Given the description of an element on the screen output the (x, y) to click on. 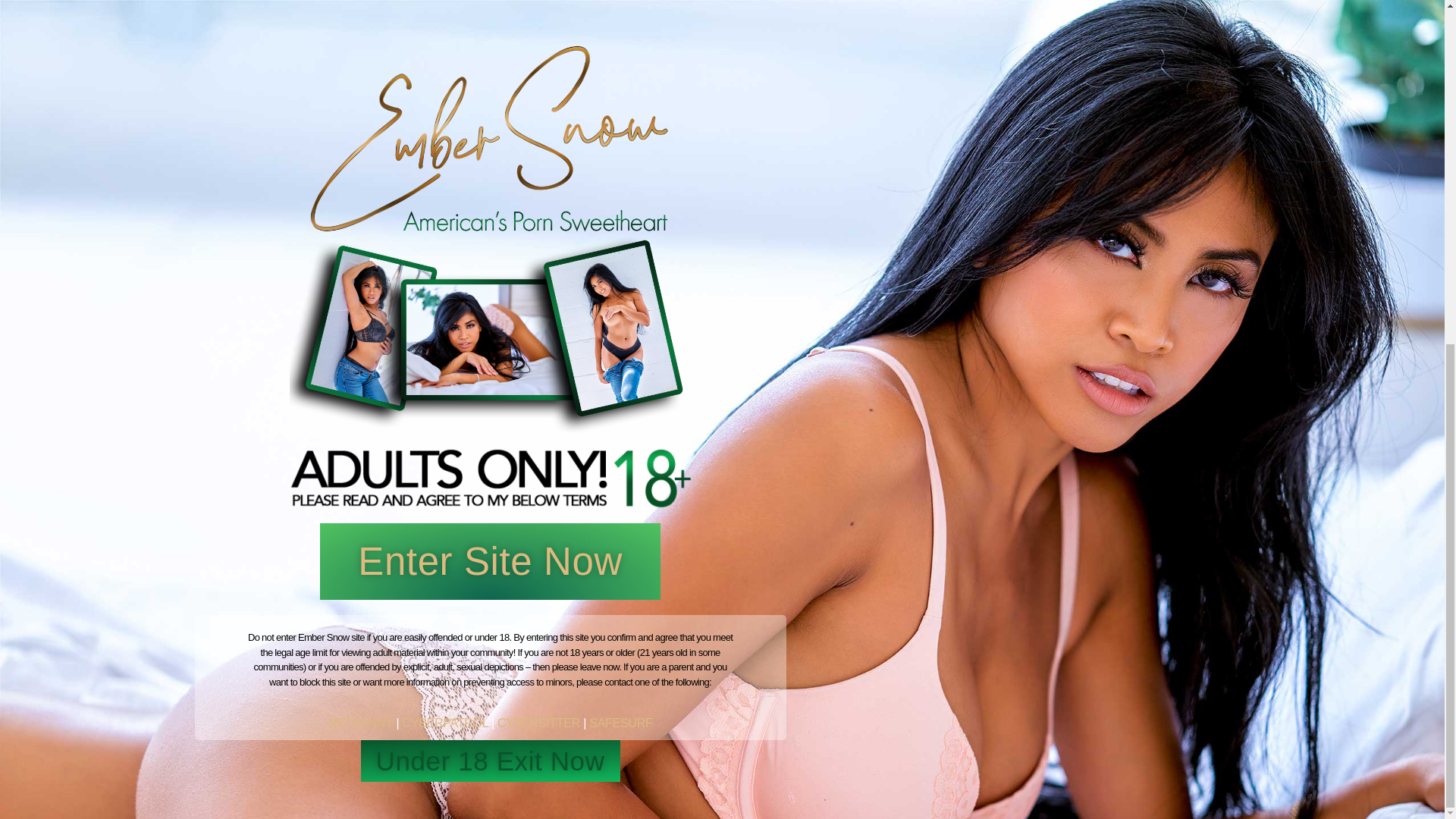
Privacy Policy (603, 803)
ADD TO CART (1013, 496)
Contact Us (882, 803)
ADD TO CART (580, 638)
ADD TO CART (363, 496)
Terms And Conditions (698, 803)
OASysTech (753, 781)
ADD TO CART (796, 590)
2257 (547, 803)
Customer Support (802, 803)
